Given the description of an element on the screen output the (x, y) to click on. 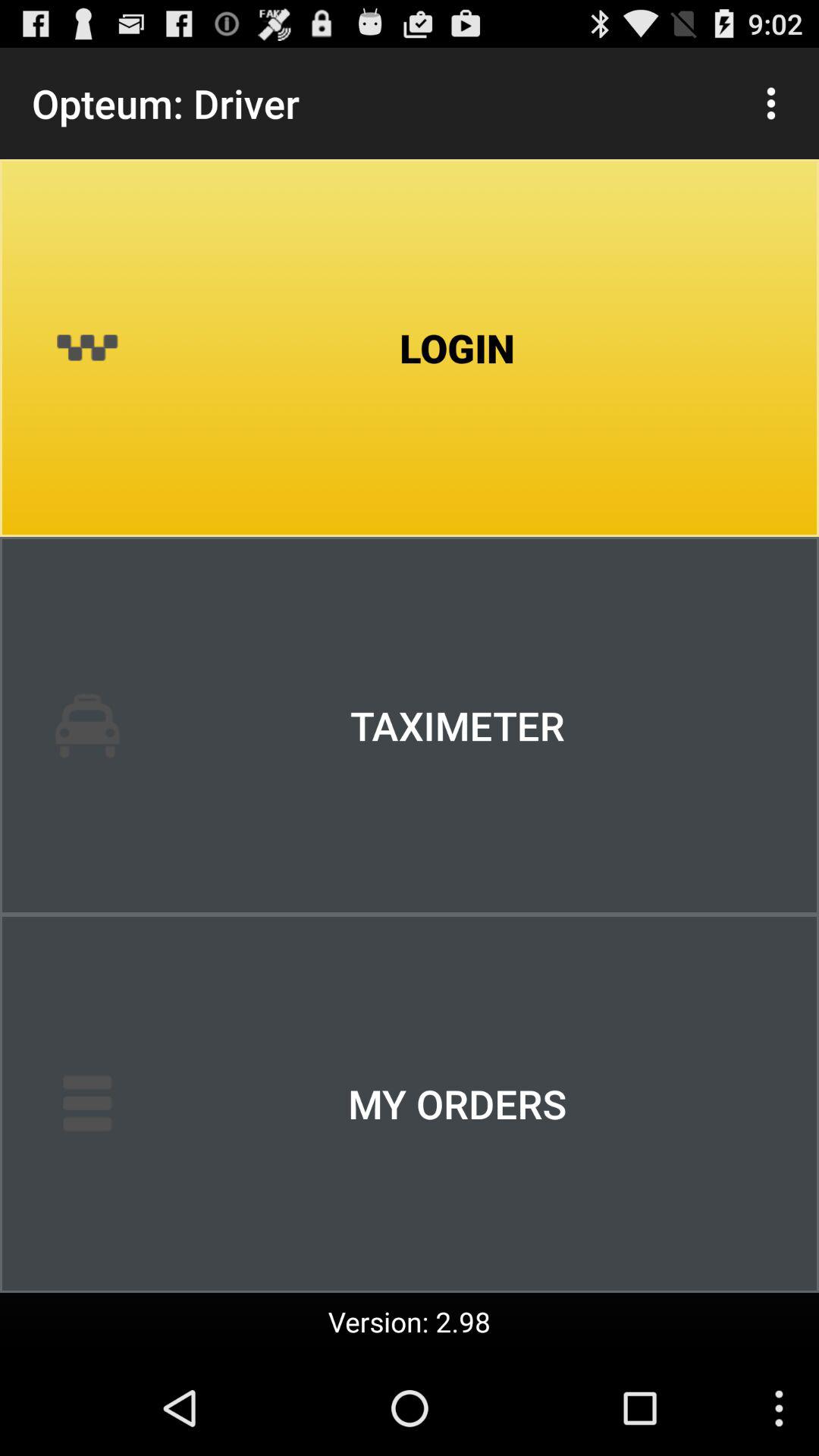
open the item below the login (409, 725)
